Given the description of an element on the screen output the (x, y) to click on. 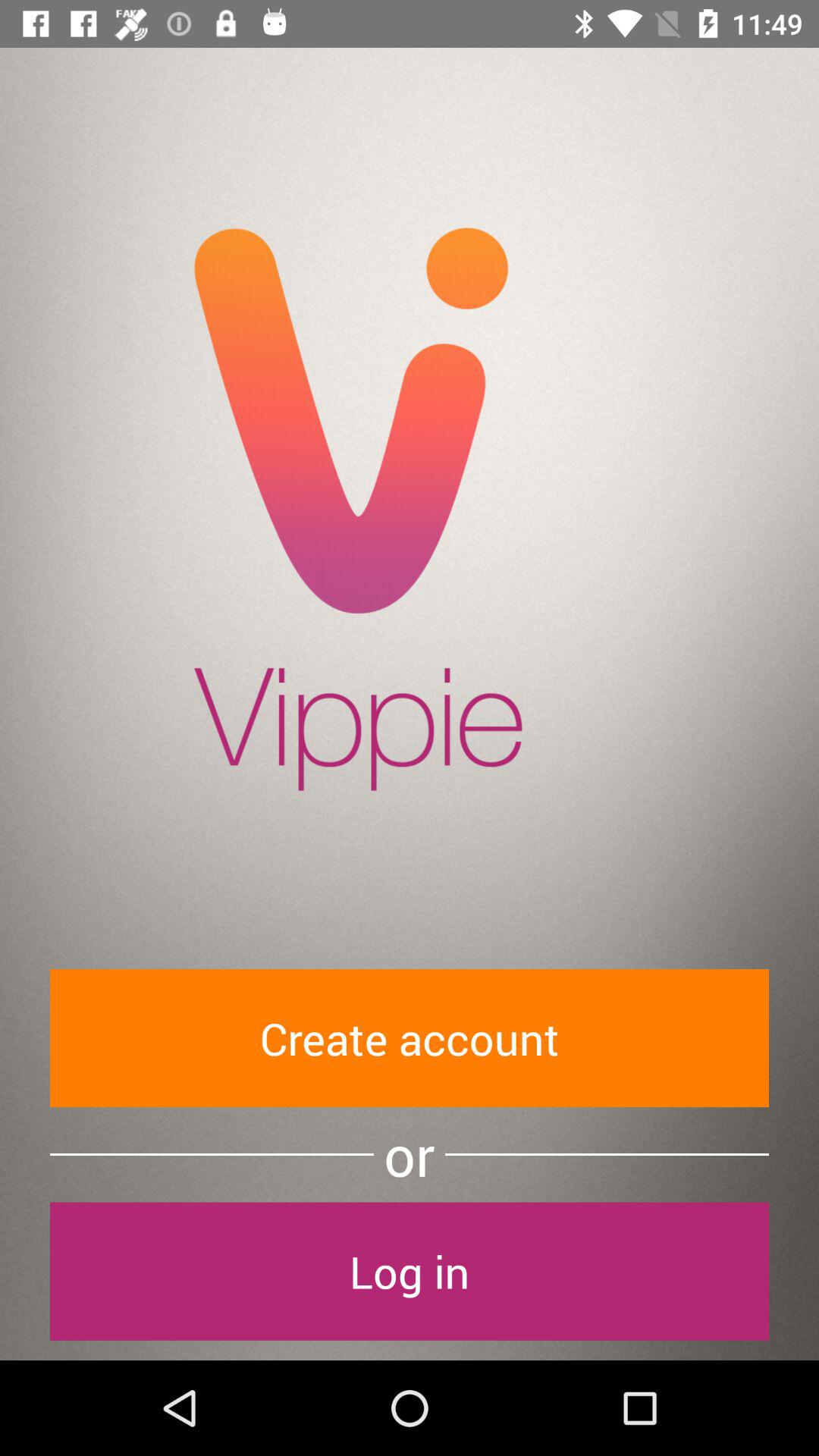
scroll to create account icon (409, 1038)
